Given the description of an element on the screen output the (x, y) to click on. 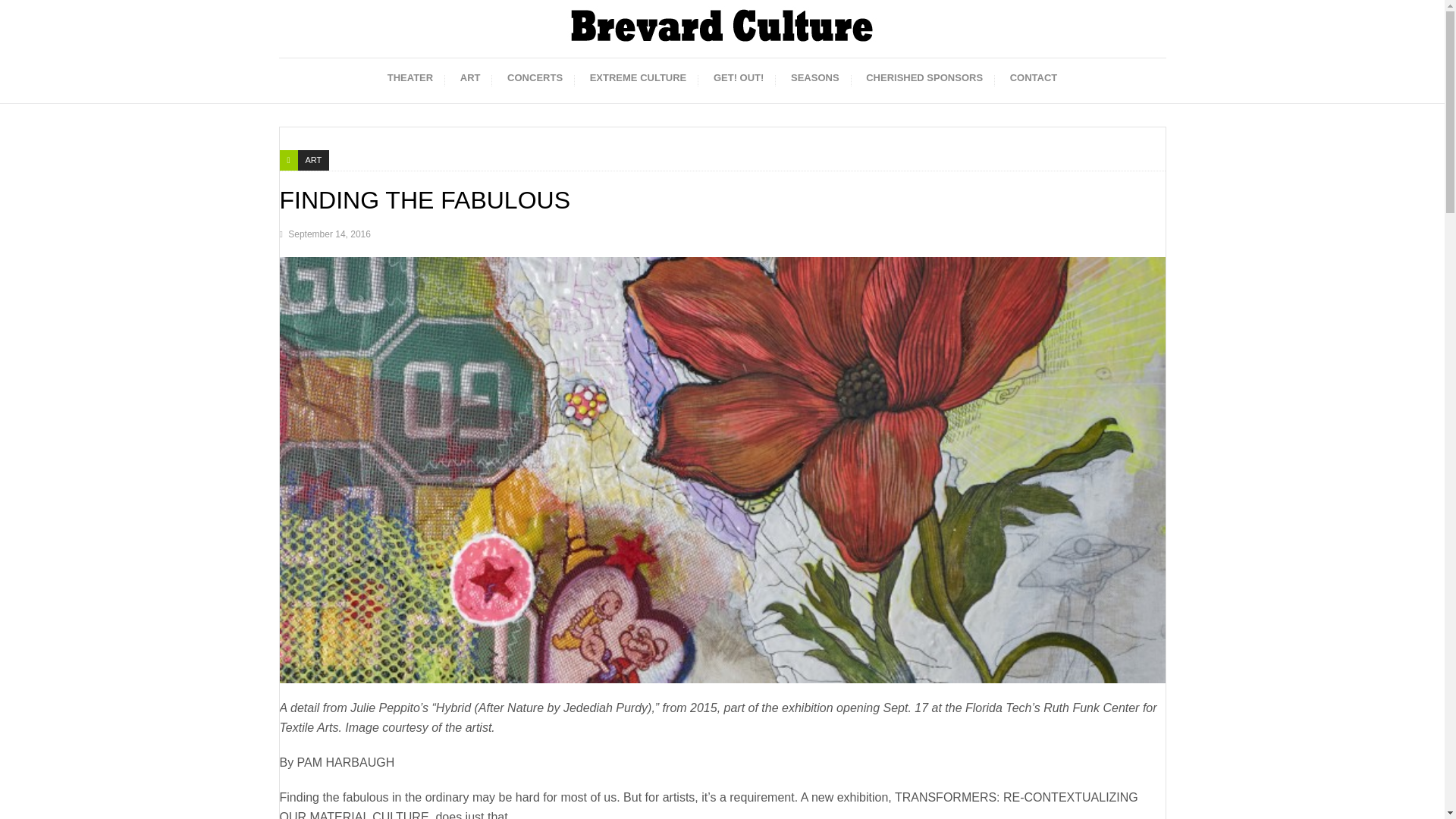
CONCERTS (535, 77)
CONTACT (1033, 77)
ART (470, 77)
EXTREME CULTURE (638, 77)
SEASONS (814, 77)
ART (314, 159)
CHERISHED SPONSORS (923, 77)
THEATER (410, 77)
GET! OUT! (738, 77)
View all posts in art (314, 159)
